Given the description of an element on the screen output the (x, y) to click on. 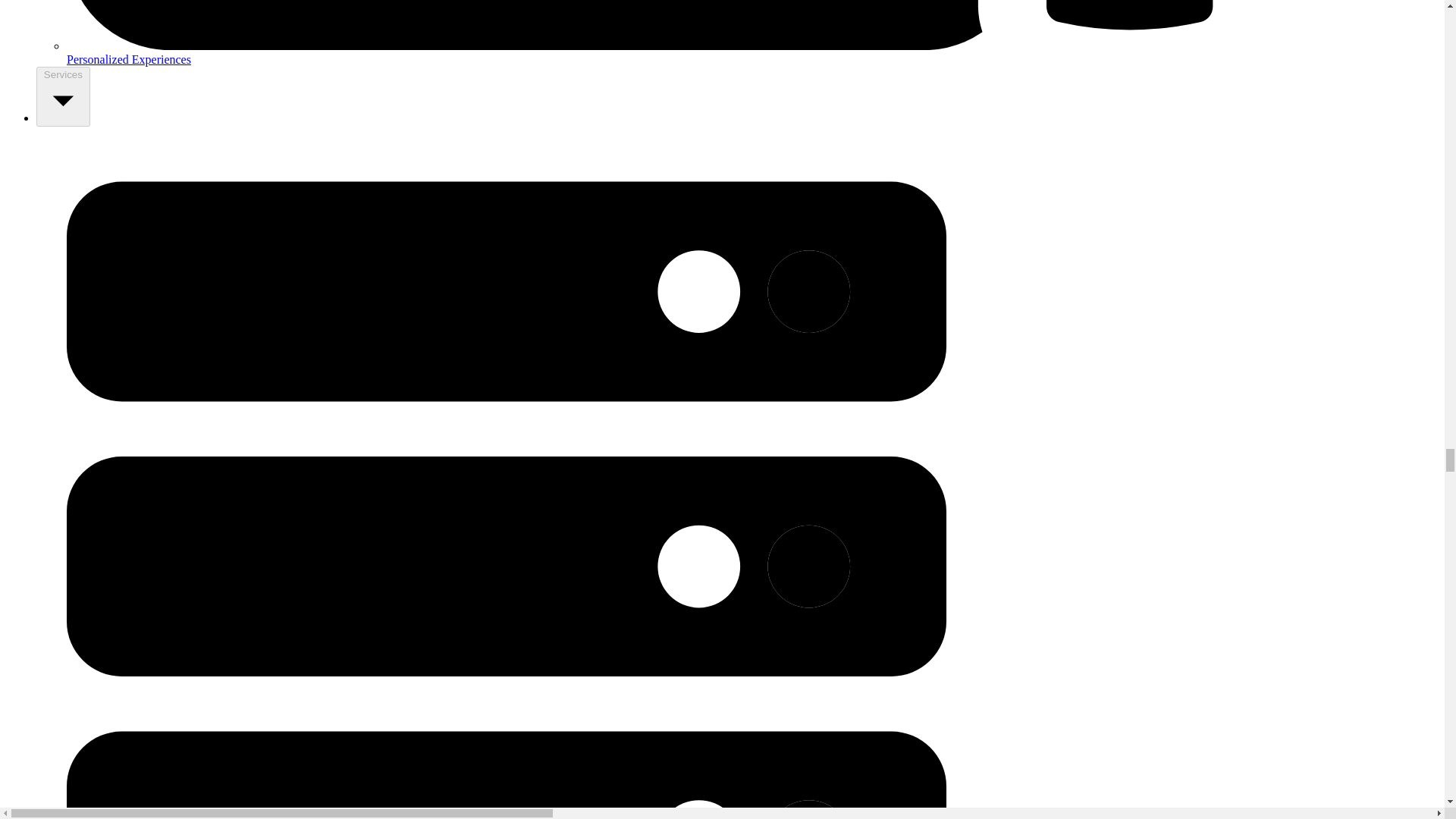
Services (63, 96)
Personalized Experiences (752, 33)
